Given the description of an element on the screen output the (x, y) to click on. 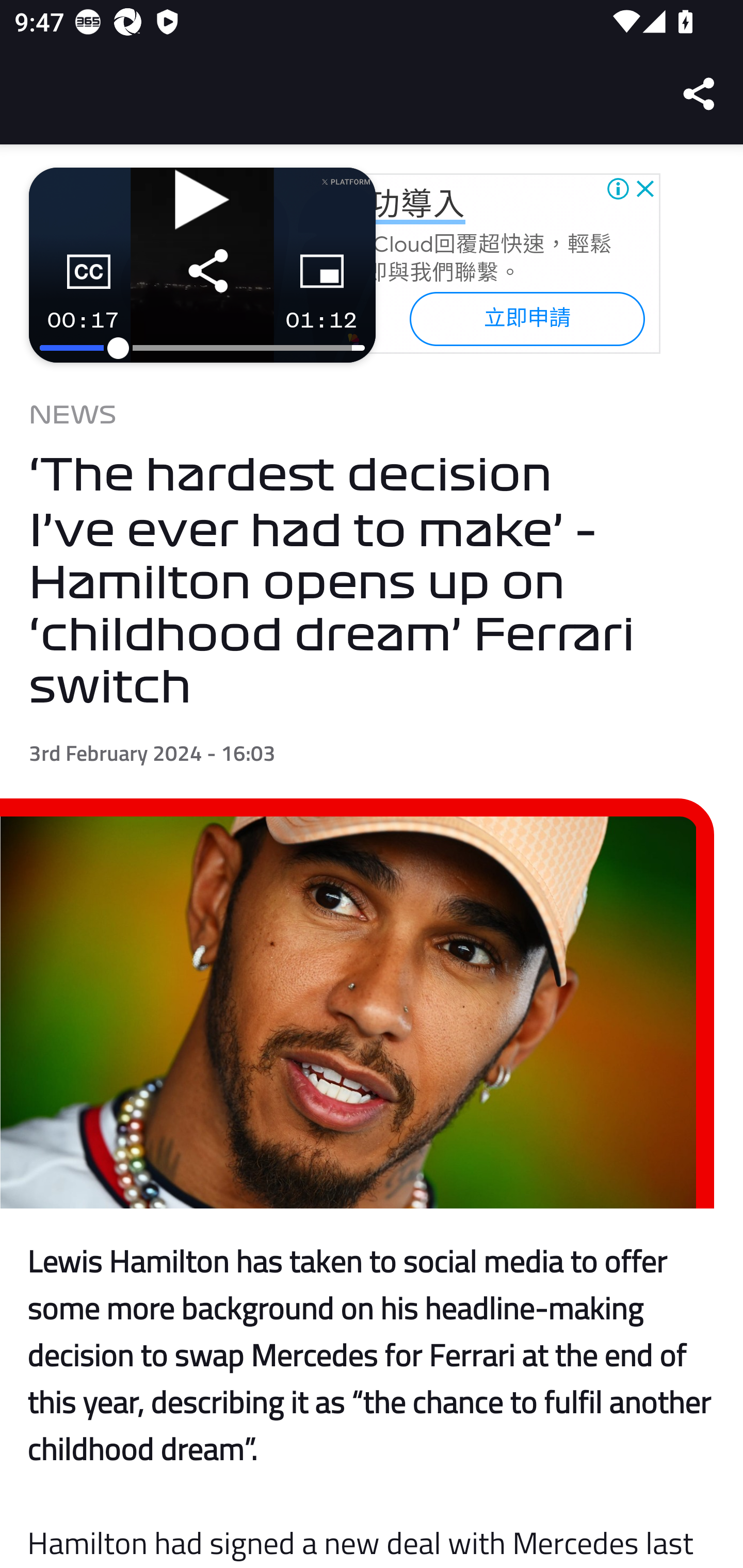
Share (699, 93)
立即申請 (526, 318)
